Given the description of an element on the screen output the (x, y) to click on. 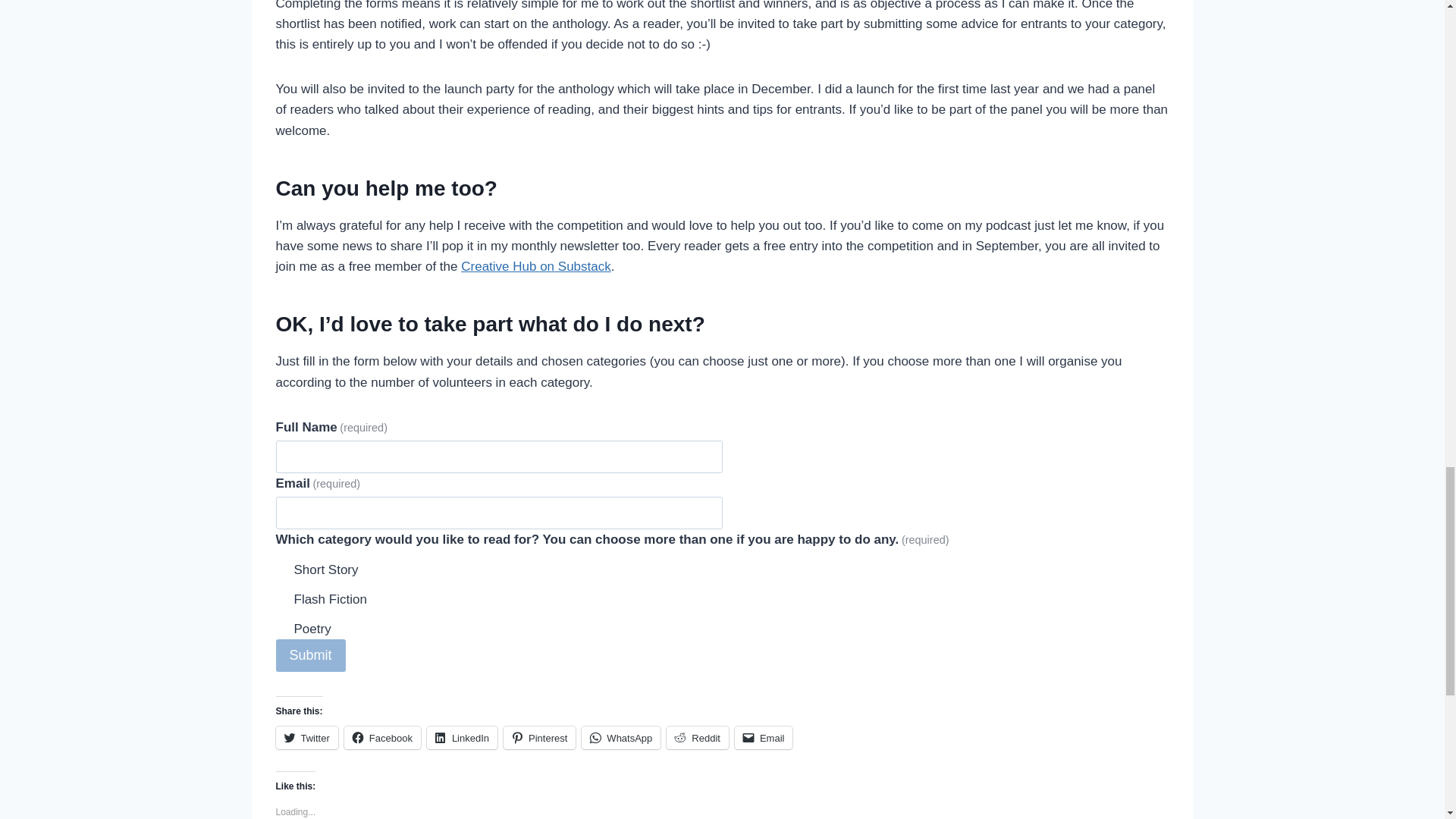
Submit (311, 655)
Click to share on LinkedIn (461, 737)
Click to email a link to a friend (764, 737)
Flash Fiction (282, 597)
Facebook (381, 737)
LinkedIn (461, 737)
Click to share on Reddit (697, 737)
Poetry (282, 626)
Pinterest (539, 737)
Creative Hub on Substack (536, 266)
